Given the description of an element on the screen output the (x, y) to click on. 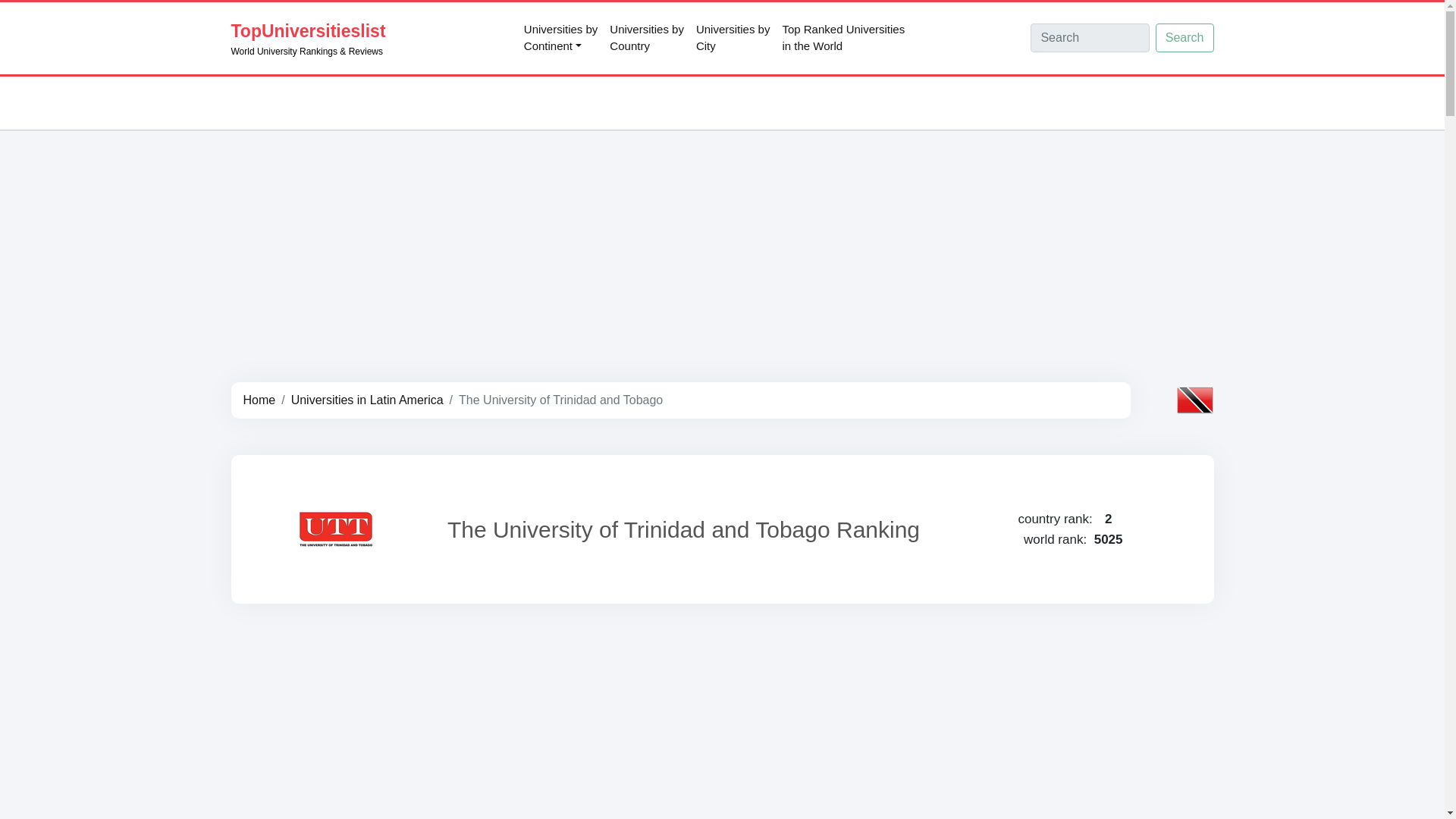
Search (561, 38)
Universities in Latin America (1185, 37)
Advertisement (367, 399)
Top Ranked Universities in the World (647, 38)
Universities by Continent (843, 38)
Universities in Latin America (561, 38)
Home (647, 38)
Universities by City (733, 38)
Advertisement (367, 399)
